Given the description of an element on the screen output the (x, y) to click on. 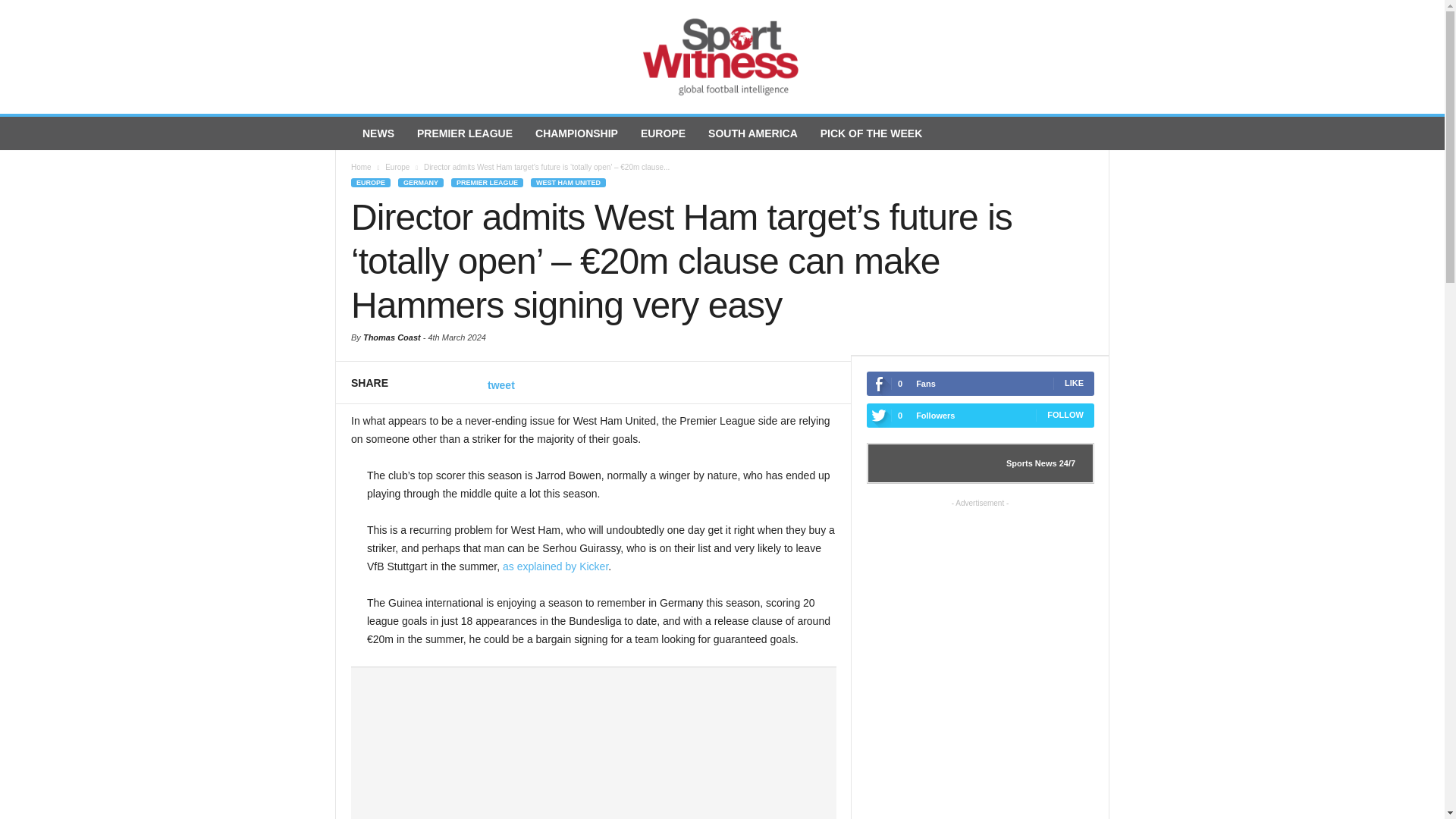
Sportwitness (722, 56)
